Given the description of an element on the screen output the (x, y) to click on. 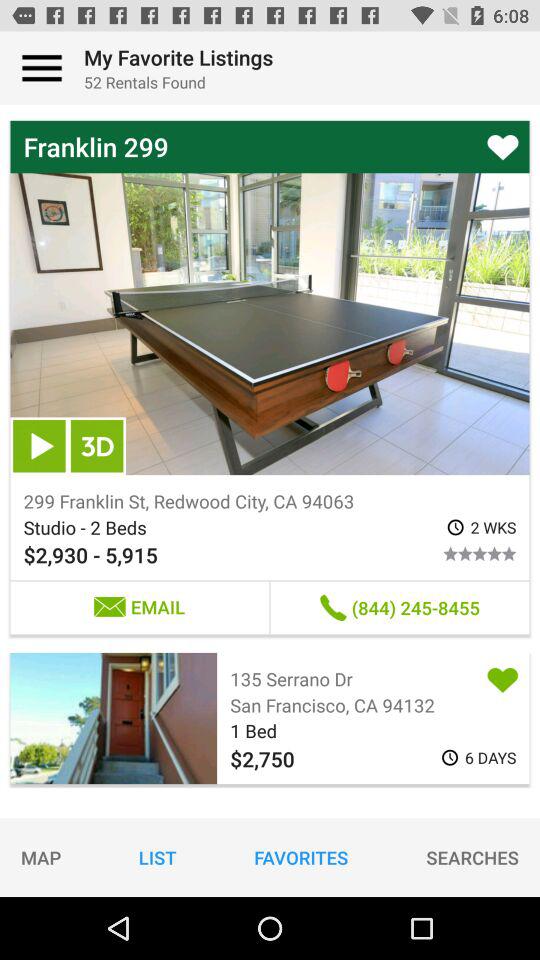
turn on item next to the map (157, 857)
